Given the description of an element on the screen output the (x, y) to click on. 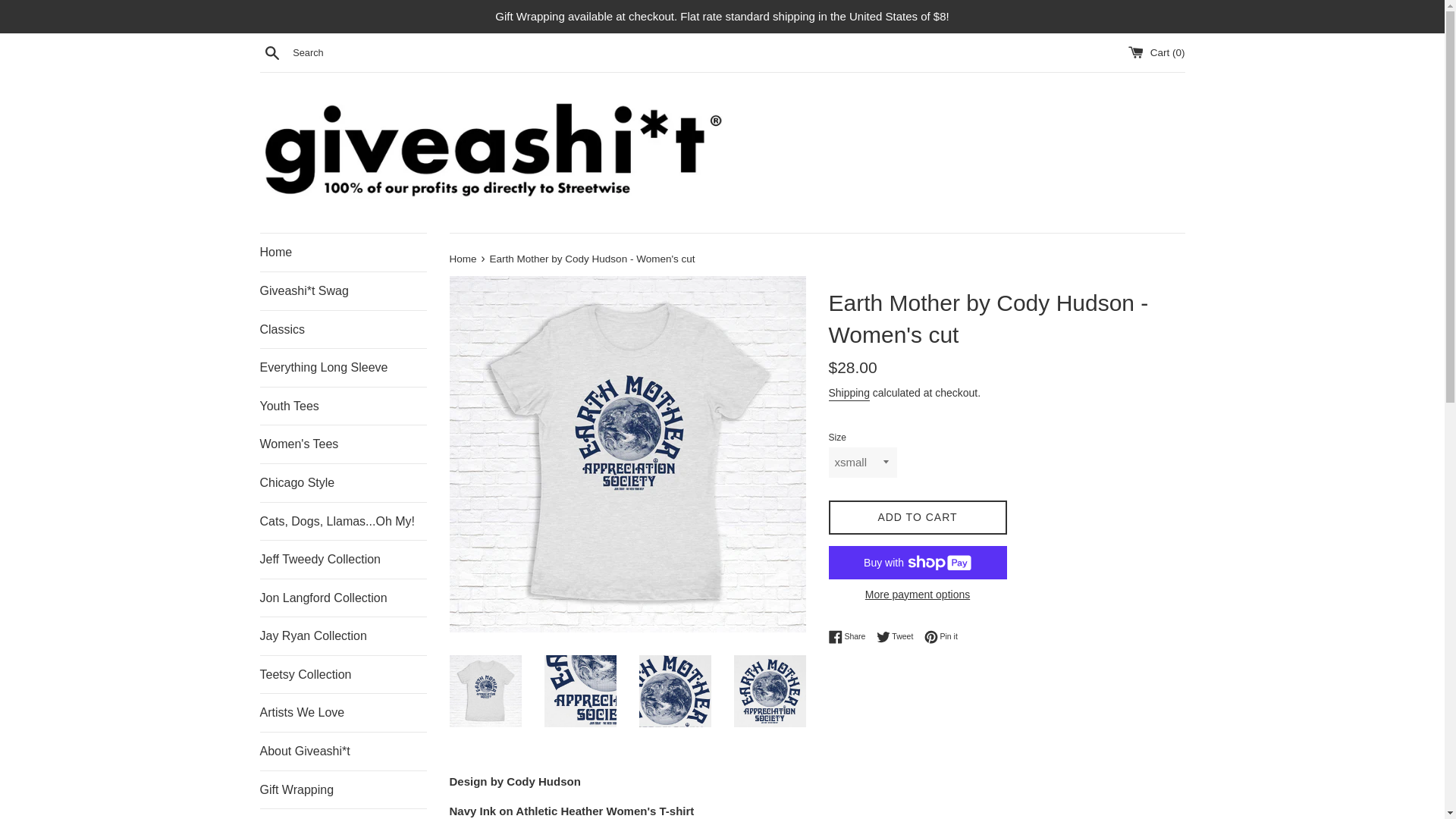
ADD TO CART (917, 517)
More payment options (917, 594)
Artists We Love (342, 712)
Search (941, 636)
Gift Wrapping (898, 636)
Youth Tees (271, 52)
Everything Long Sleeve (342, 790)
Women's Tees (342, 406)
Jeff Tweedy Collection (850, 636)
Chicago Style (342, 367)
Home (342, 444)
Share on Facebook (342, 559)
